Given the description of an element on the screen output the (x, y) to click on. 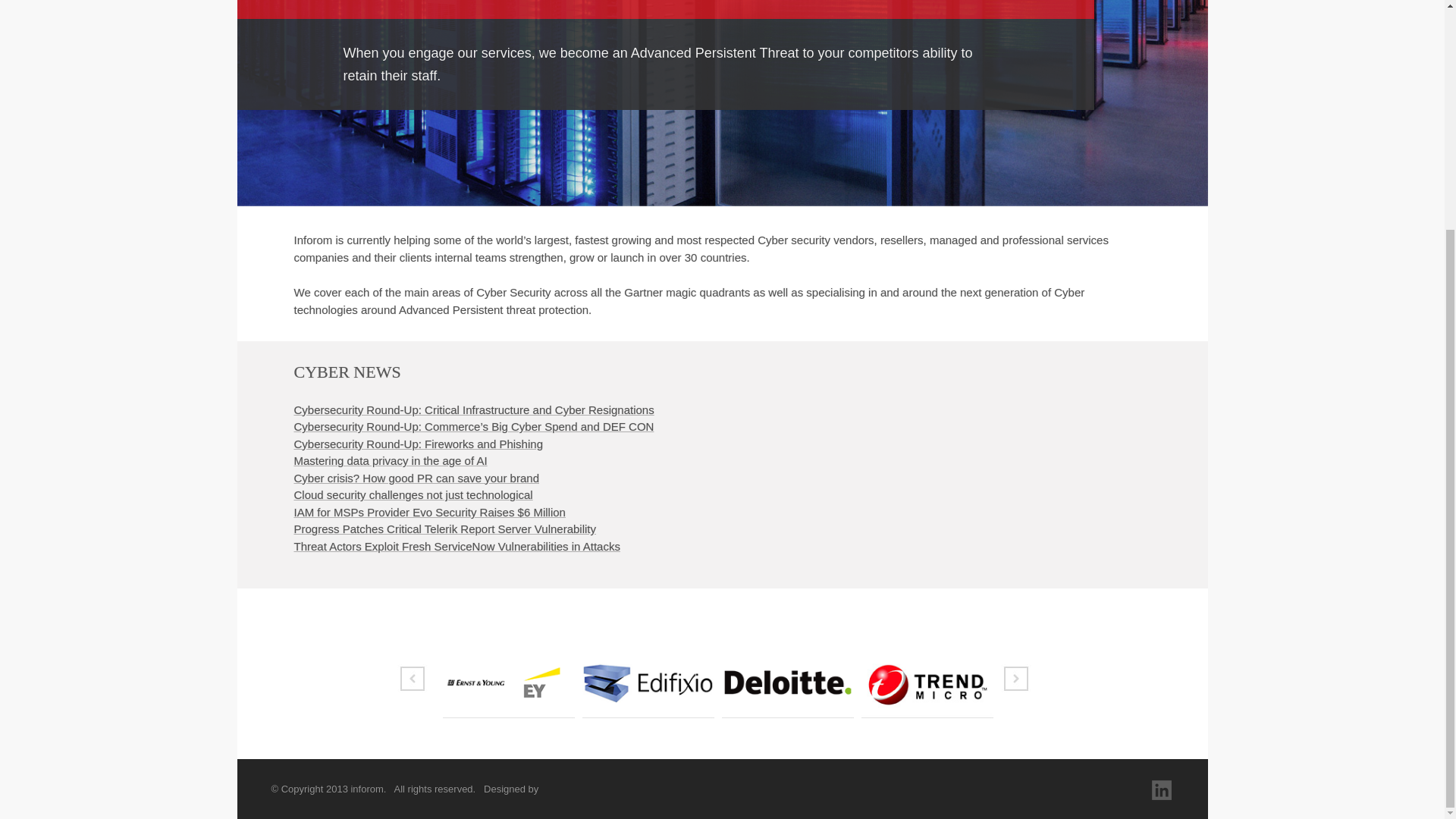
Mastering data privacy in the age of AI (390, 460)
Cloud security challenges not just technological (413, 494)
Cloud security challenges not just technological (413, 494)
Cybersecurity Round-Up: Fireworks and Phishing (418, 443)
Mastering data privacy in the age of AI (390, 460)
Cyber crisis? How good PR can save your brand (416, 477)
Cybersecurity Round-Up: Fireworks and Phishing (418, 443)
Cyber crisis? How good PR can save your brand (416, 477)
